Given the description of an element on the screen output the (x, y) to click on. 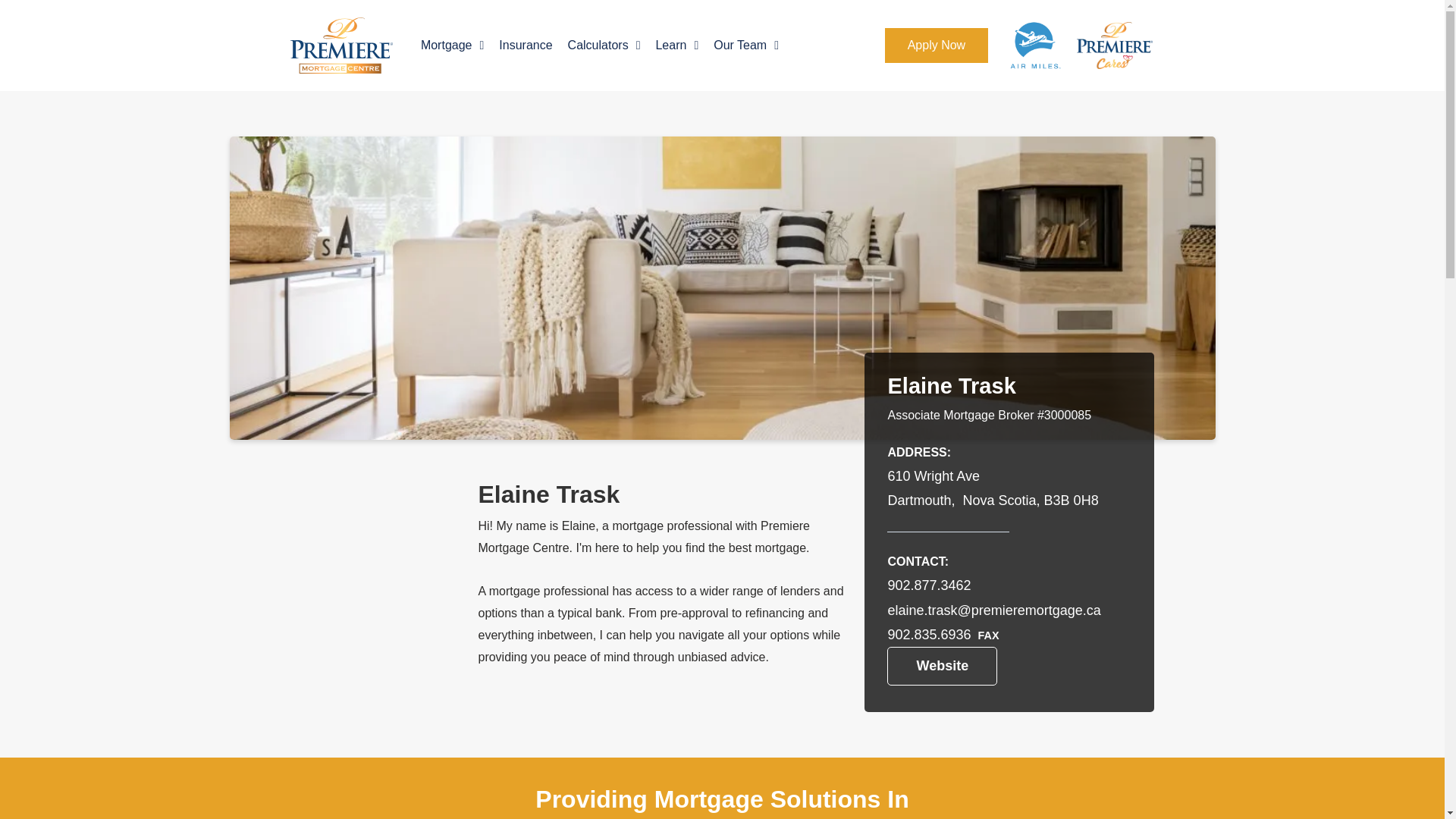
Mortgage (452, 45)
Insurance (525, 45)
Learn (676, 45)
Our Team (746, 45)
Calculators (603, 45)
